Given the description of an element on the screen output the (x, y) to click on. 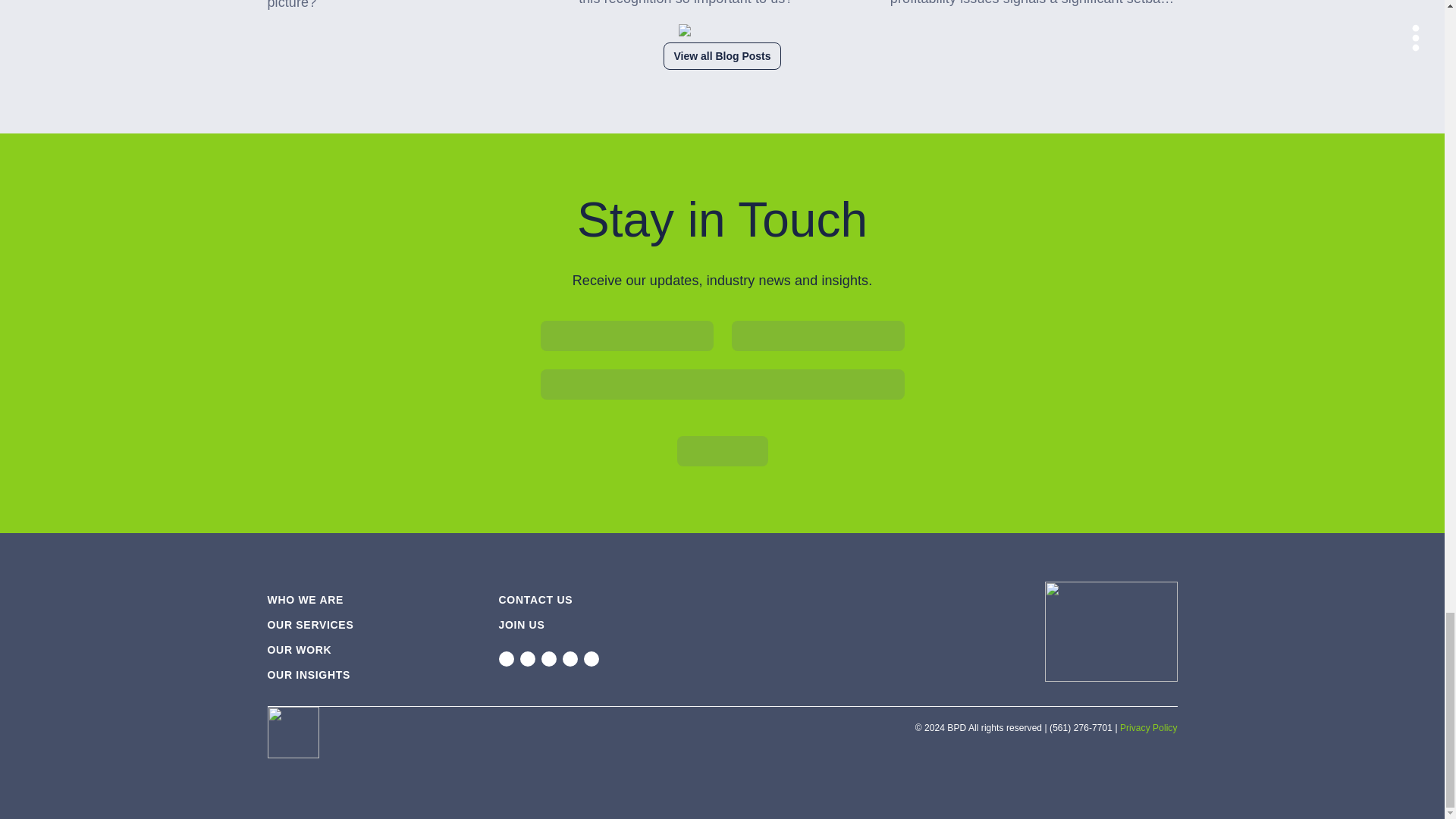
OUR SERVICES (309, 624)
What if your mission statement was a motion picture? (410, 6)
JOIN US (521, 624)
OUR WORK (298, 649)
WHO WE ARE (304, 599)
CONTACT US (536, 599)
View all Blog Posts (721, 55)
OUR INSIGHTS (308, 674)
